Given the description of an element on the screen output the (x, y) to click on. 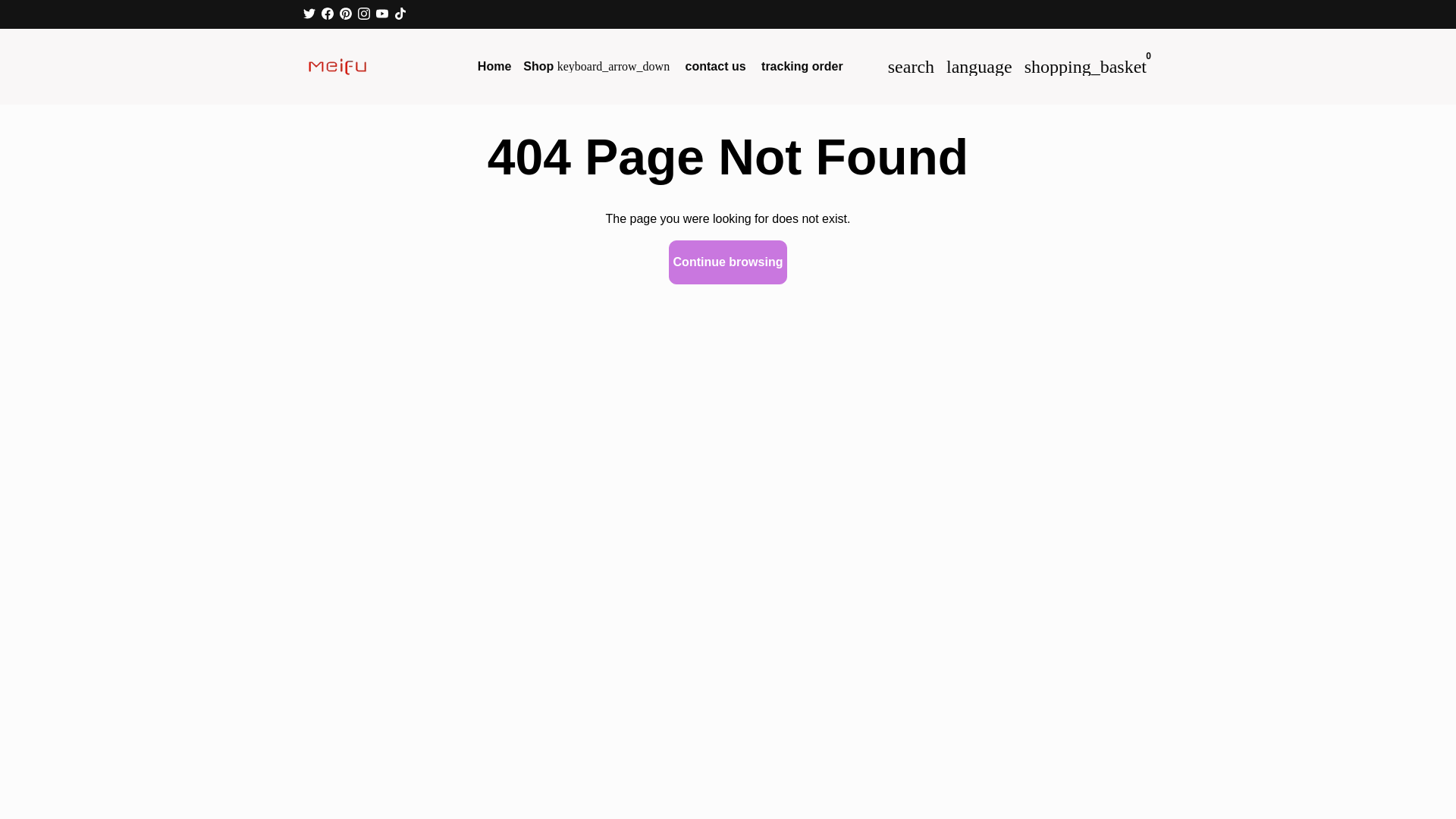
Meifu Market on Twitter (308, 13)
Home (493, 66)
Search (911, 66)
Meifu Market on Tiktok (400, 13)
Meifu Market on Instagram (363, 13)
Meifu Market on Facebook (327, 13)
Meifu Market on Youtube (381, 13)
Meifu Market on Pinterest (345, 13)
